Given the description of an element on the screen output the (x, y) to click on. 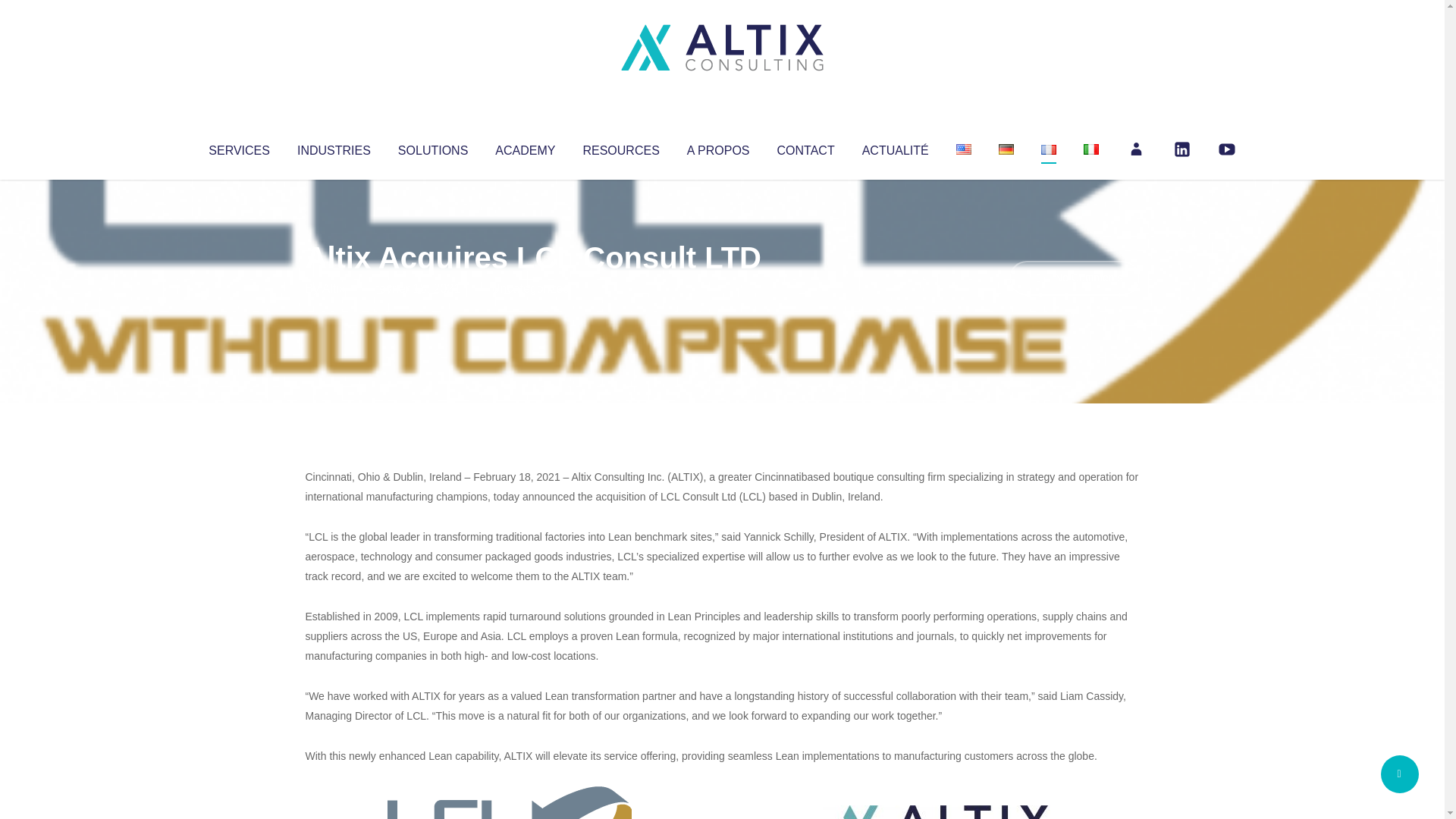
Uncategorized (530, 287)
SERVICES (238, 146)
No Comments (1073, 278)
Altix (333, 287)
Articles par Altix (333, 287)
ACADEMY (524, 146)
SOLUTIONS (432, 146)
RESOURCES (620, 146)
A PROPOS (718, 146)
INDUSTRIES (334, 146)
